Given the description of an element on the screen output the (x, y) to click on. 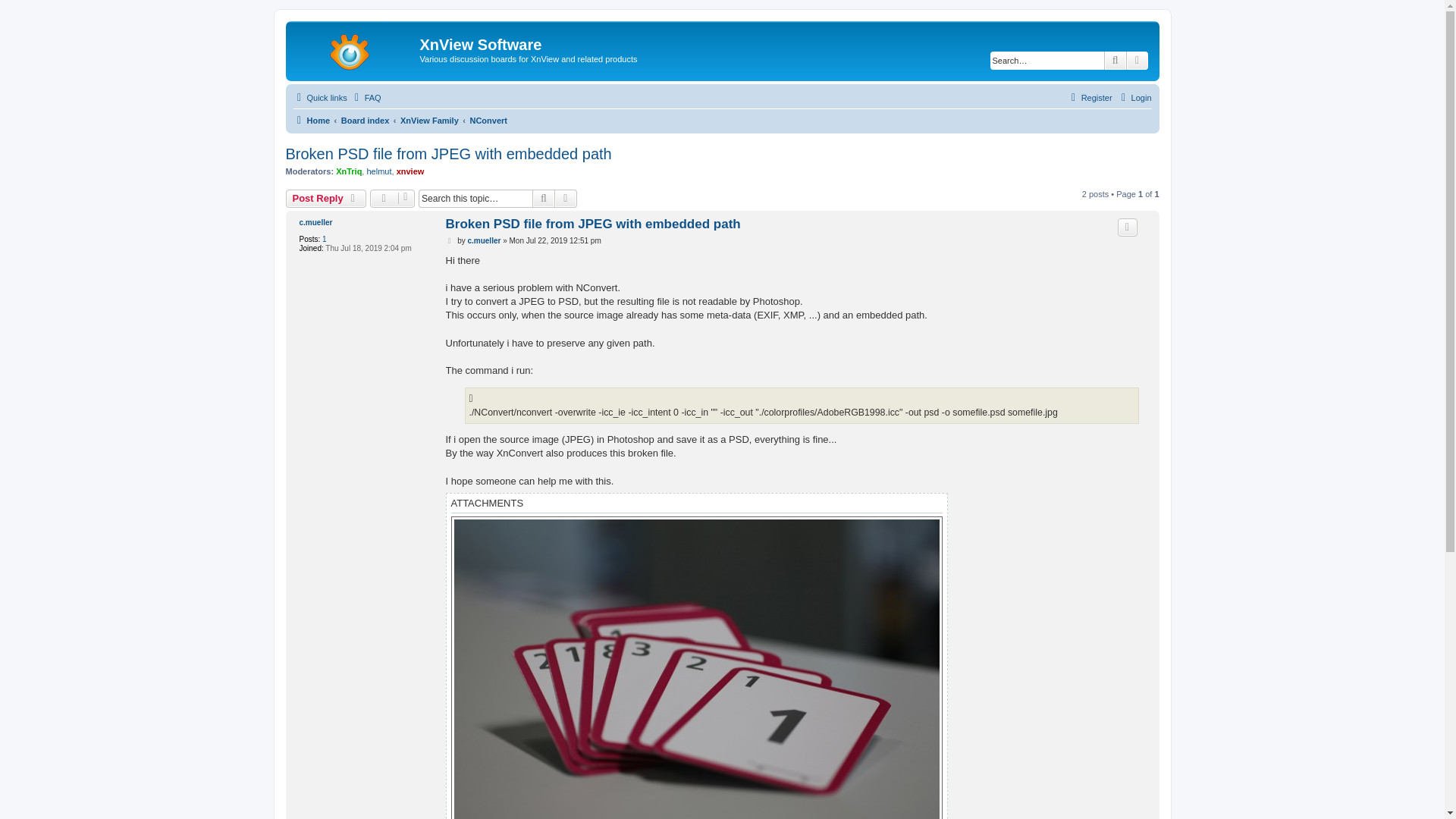
Board index (365, 120)
xnview (410, 171)
Login (1134, 97)
Board index (365, 120)
Broken PSD file from JPEG with embedded path (593, 223)
Advanced search (565, 198)
Advanced search (565, 198)
Home (354, 49)
Search (1114, 60)
Login (1134, 97)
